Given the description of an element on the screen output the (x, y) to click on. 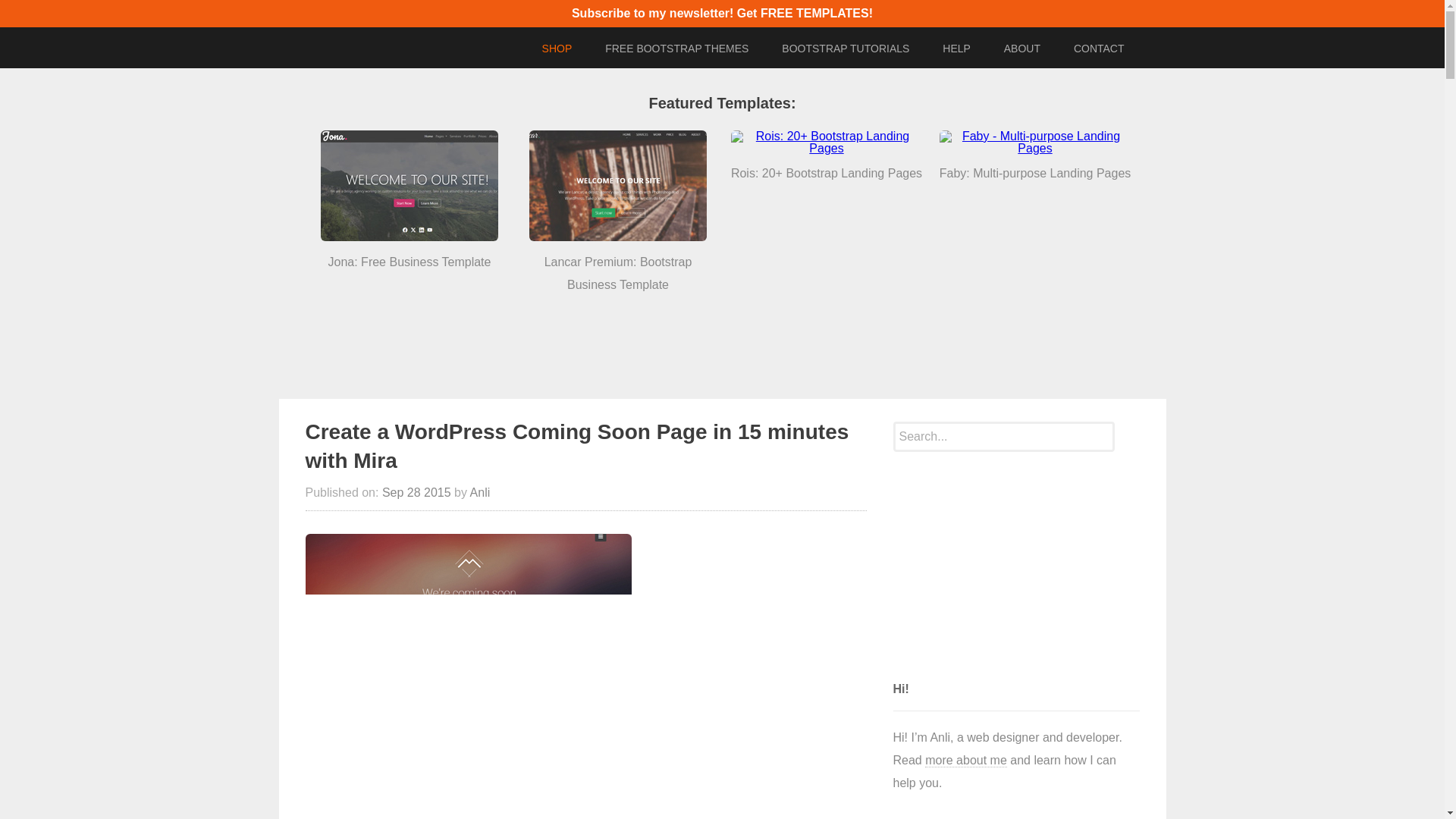
SHOP (557, 48)
BOOTSTRAP TUTORIALS (845, 48)
HELP (956, 48)
CONTACT (1099, 48)
Faby - Multi-purpose Landing Pages (1035, 142)
ABOUT (1021, 48)
Jona: Free Business Template (408, 185)
Create a WordPress Coming Soon Page in 15 minutes with Mira (576, 446)
Lancar Premium - Bootstrap Business Template (617, 185)
FREE BOOTSTRAP THEMES (675, 48)
Subscribe to my newsletter! Get FREE TEMPLATES! (722, 12)
Search... (1004, 436)
Mira - Coming Soon Page WordPress Tutorial (467, 676)
Search... (1004, 436)
